Given the description of an element on the screen output the (x, y) to click on. 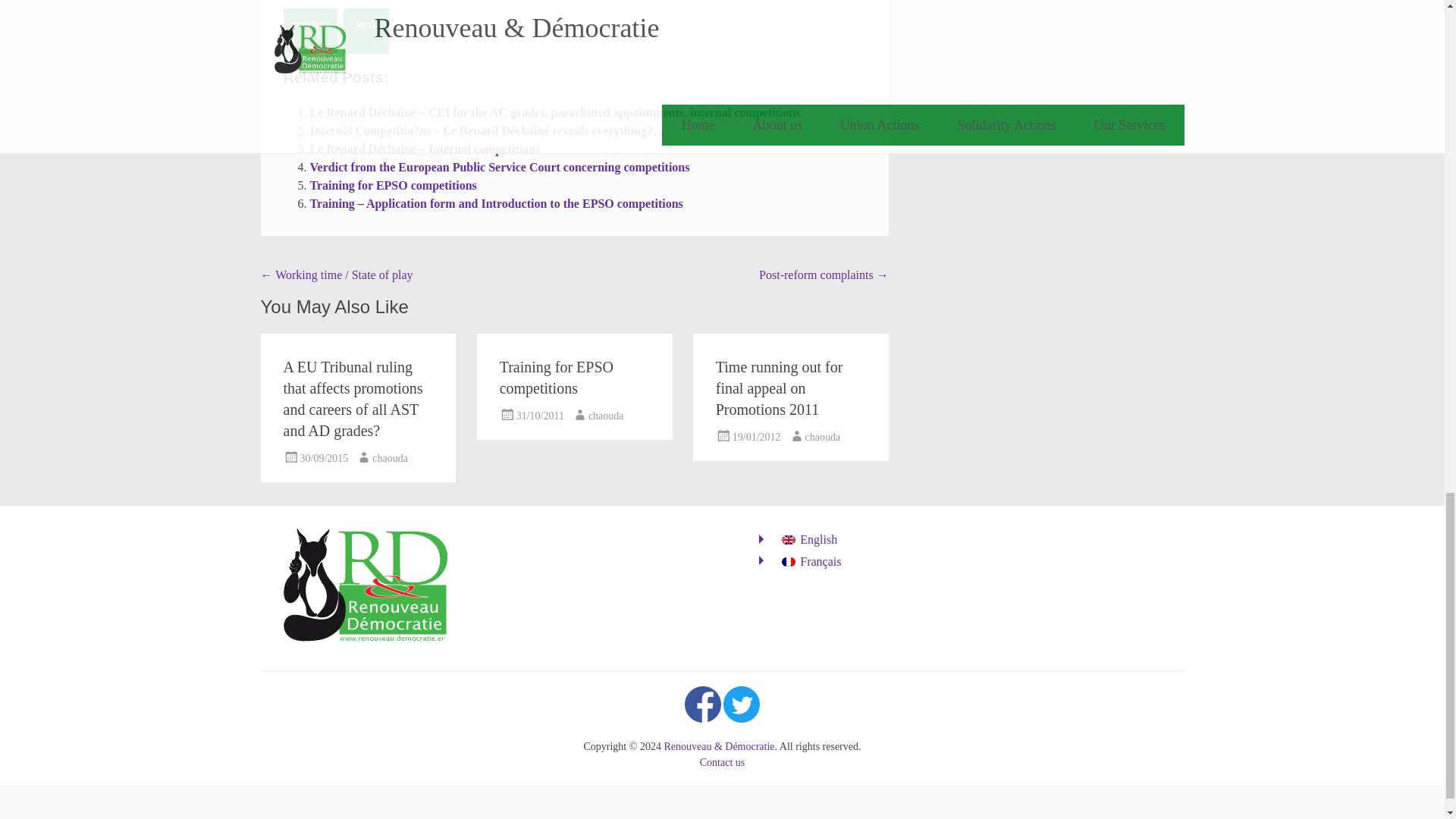
Training for EPSO competitions (555, 377)
Training for EPSO competitions (392, 185)
Time running out for final appeal on Promotions 2011 (779, 387)
